Given the description of an element on the screen output the (x, y) to click on. 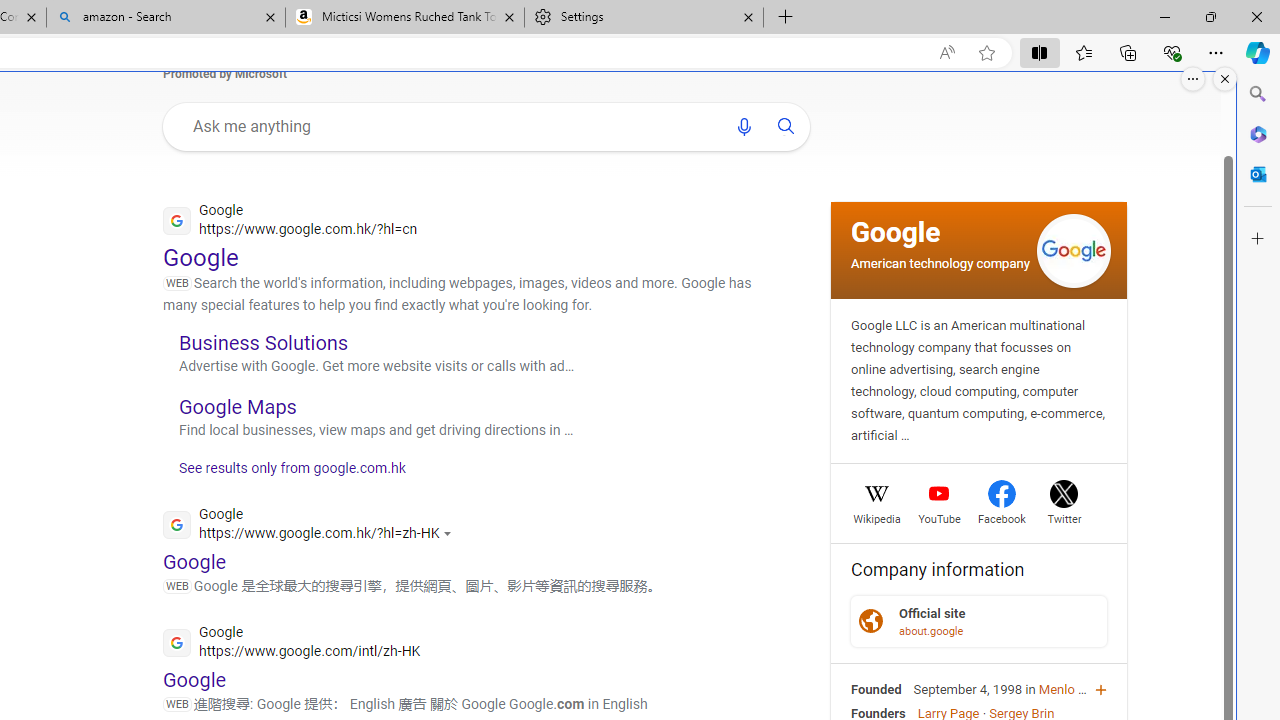
More options. (1193, 79)
YouTube (939, 516)
Facebook (1001, 516)
See more images of Google (1073, 251)
Google Maps (237, 406)
Search using voice (743, 125)
AutomationID: uaseabtn (787, 126)
